Given the description of an element on the screen output the (x, y) to click on. 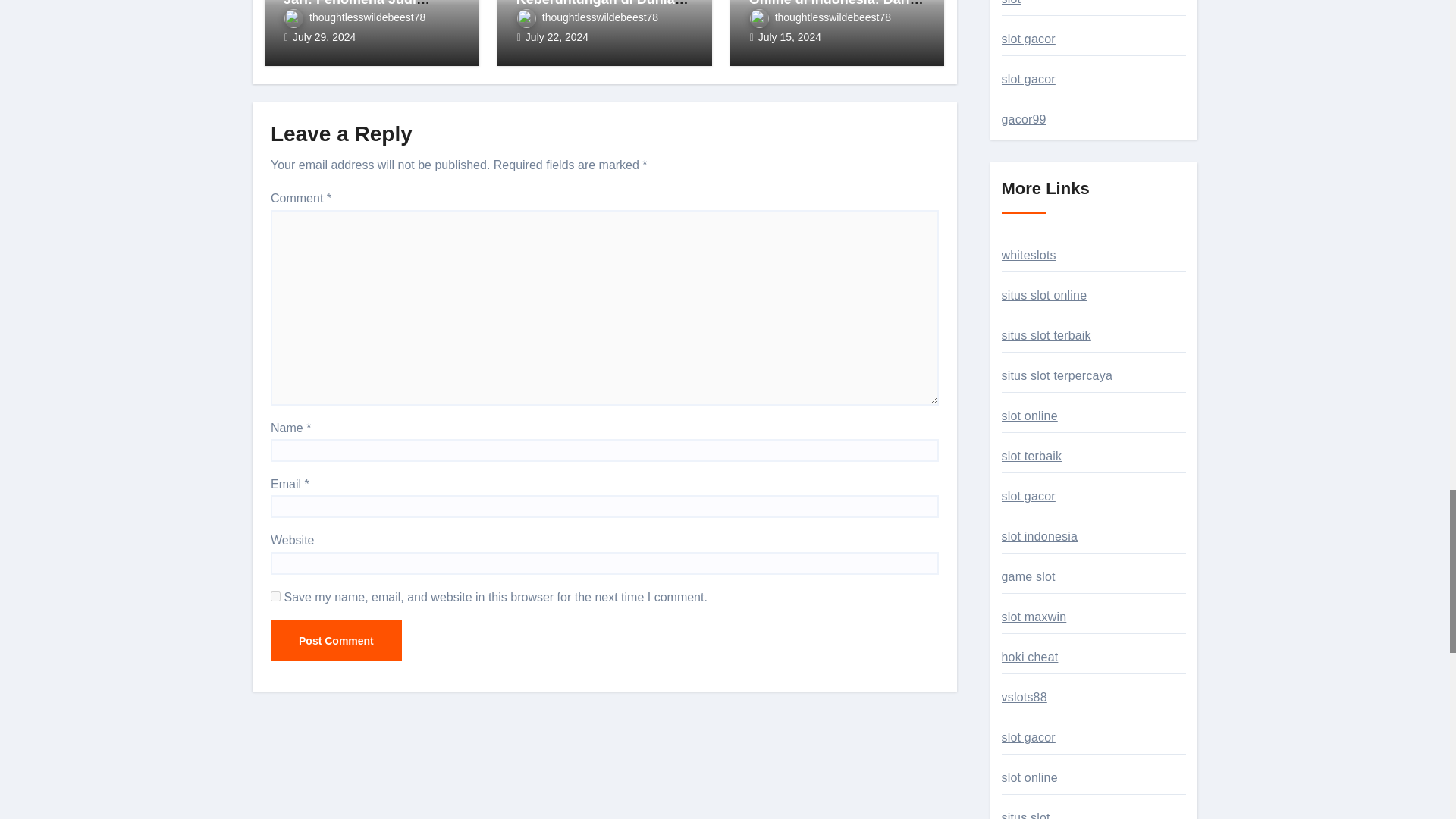
Post Comment (335, 639)
yes (275, 596)
